Given the description of an element on the screen output the (x, y) to click on. 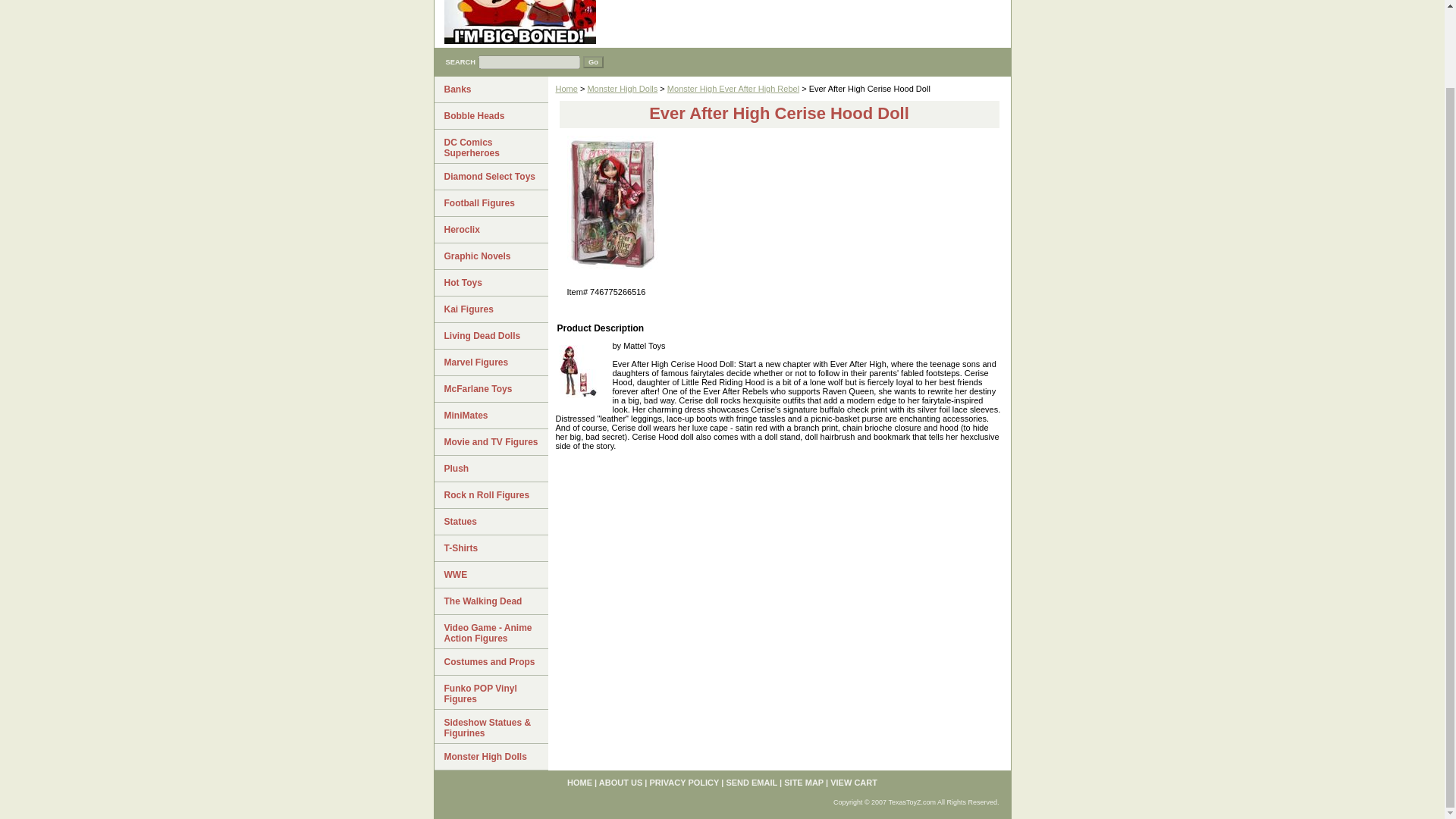
Bobble Heads (490, 116)
Monster High Dolls (490, 756)
WWE (490, 574)
MiniMates (490, 415)
Bobble Heads (490, 116)
Monster High Ever After High Rebel (732, 88)
Home (565, 88)
Movie and TV Figures (490, 442)
 Ever After High Cerise Hood Doll (576, 371)
Hot Toys (490, 283)
Rock n Roll Figures (490, 495)
Living Dead Dolls (490, 335)
HOME (579, 782)
Movie and TV Figures (490, 442)
McFarlane Toys (490, 388)
